Given the description of an element on the screen output the (x, y) to click on. 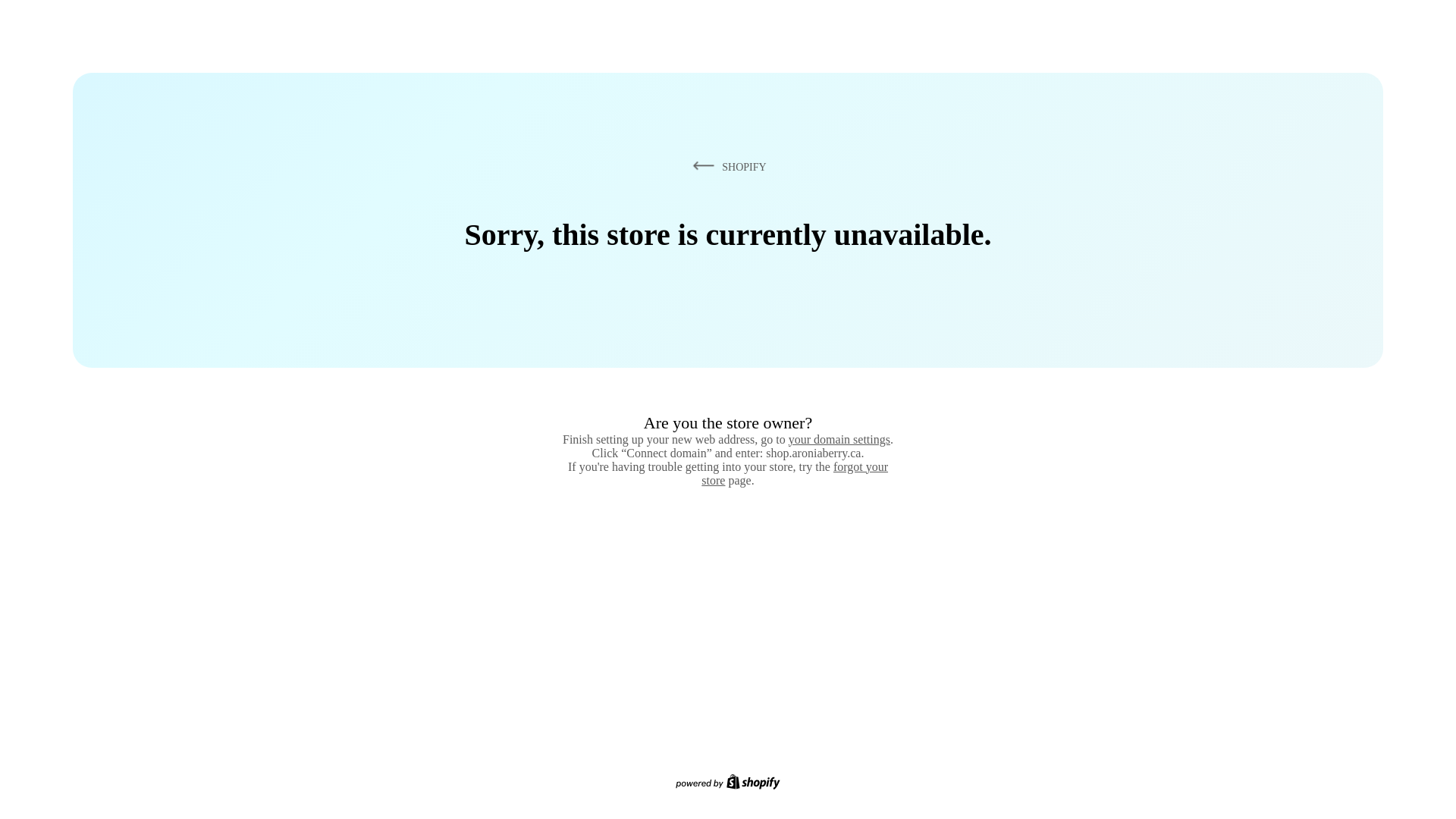
forgot your store Element type: text (794, 473)
SHOPIFY Element type: text (727, 166)
your domain settings Element type: text (839, 439)
